Given the description of an element on the screen output the (x, y) to click on. 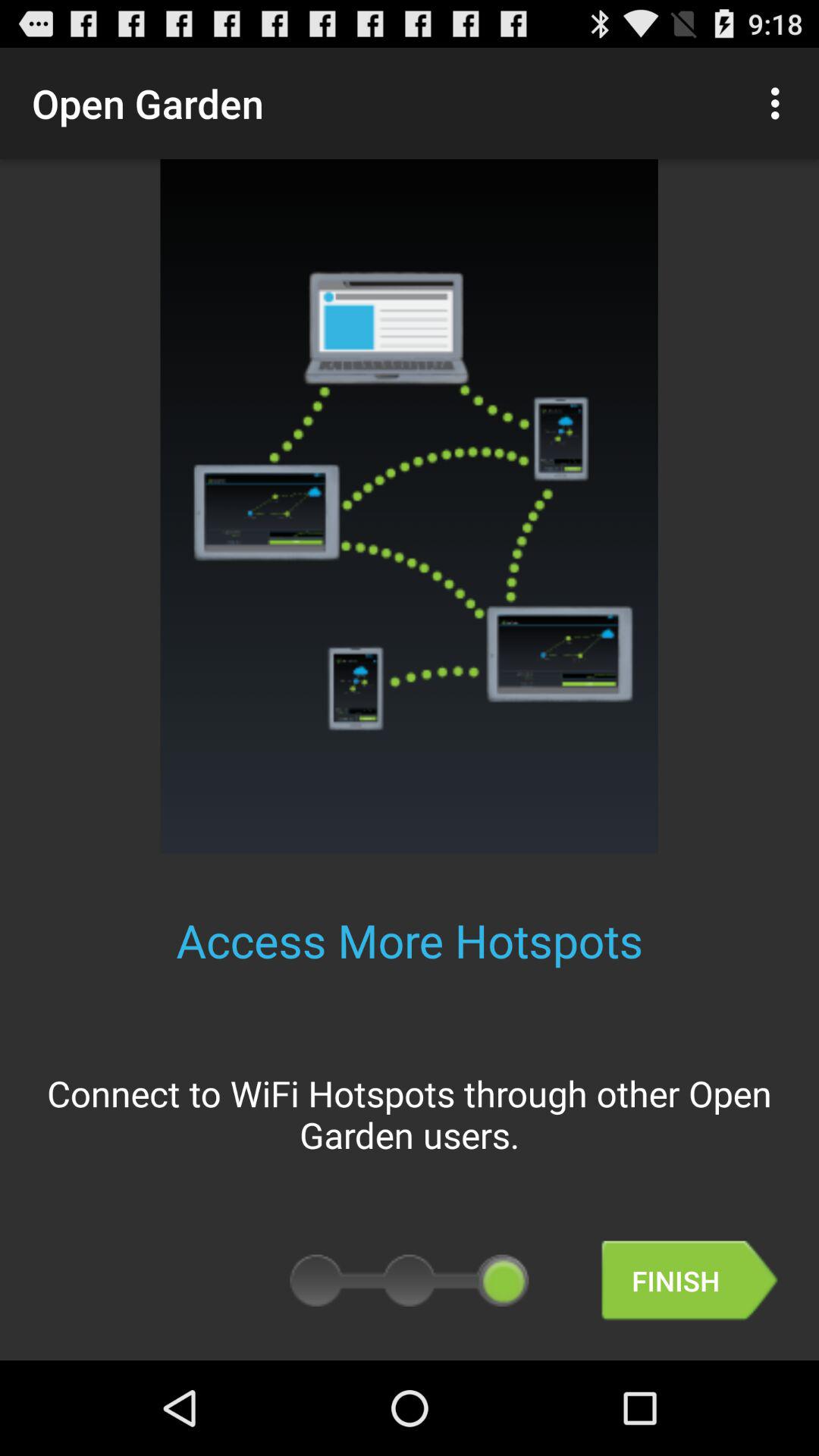
click icon below the connect to wifi app (689, 1280)
